Given the description of an element on the screen output the (x, y) to click on. 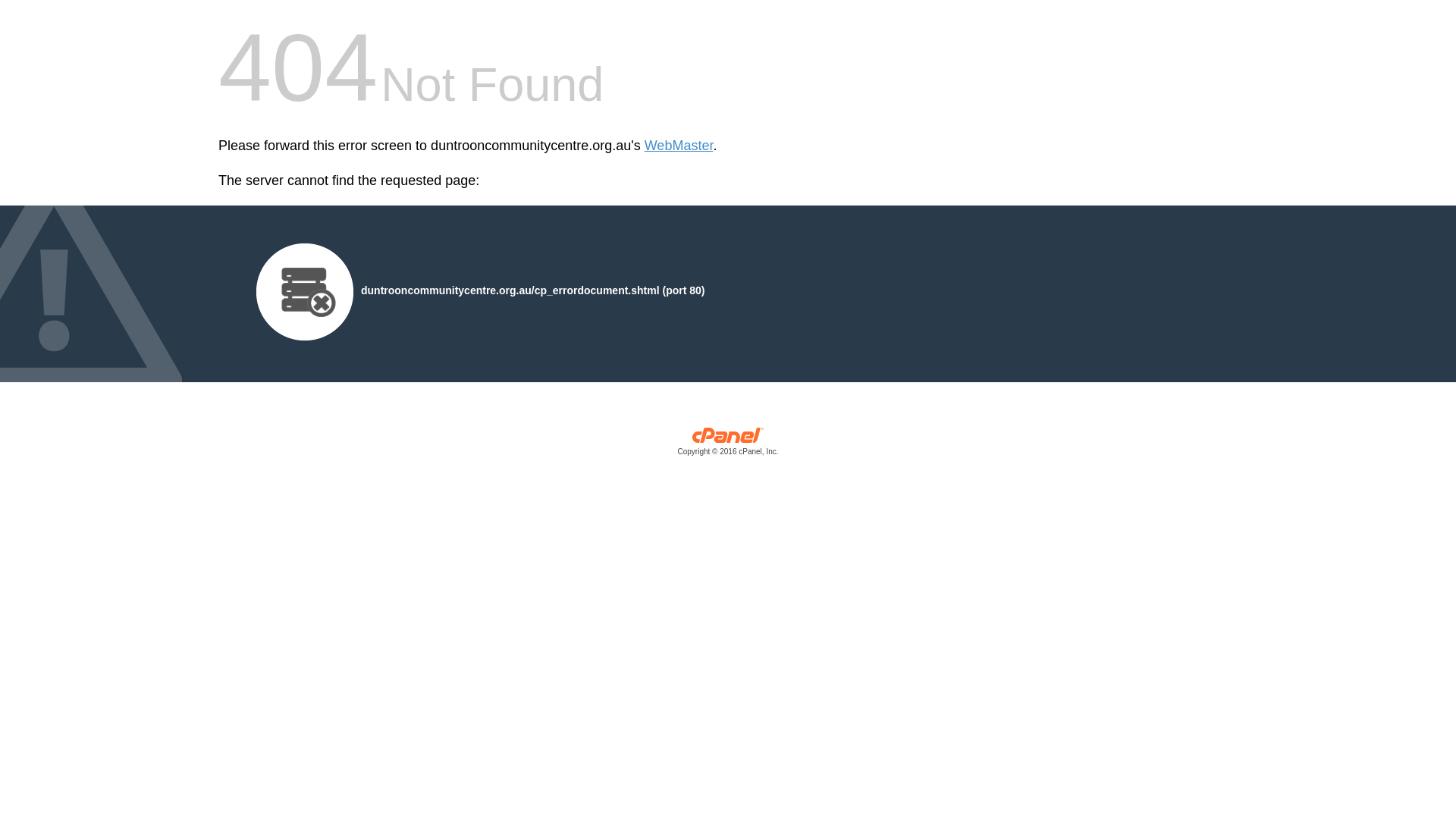
WebMaster Element type: text (678, 145)
